Given the description of an element on the screen output the (x, y) to click on. 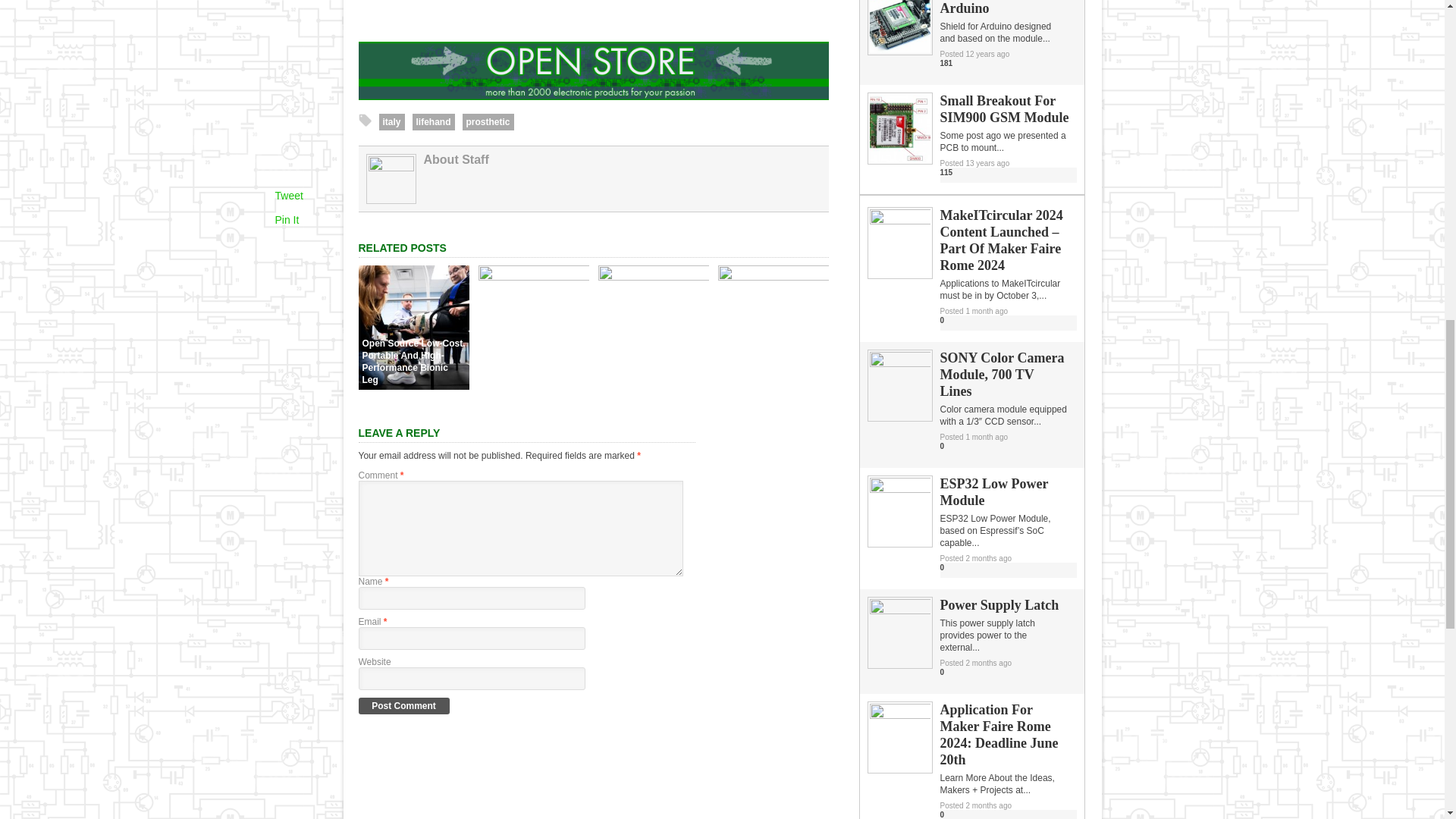
DIY a 3D Printed Prosthetic Nerf Gun (532, 276)
Go Prosthetic: Affordable 3d Printed Limbs for Amputees (772, 276)
Open Bionics: Creating Prosthetics Inspired by Superheroes (651, 276)
Post Comment (403, 705)
